Given the description of an element on the screen output the (x, y) to click on. 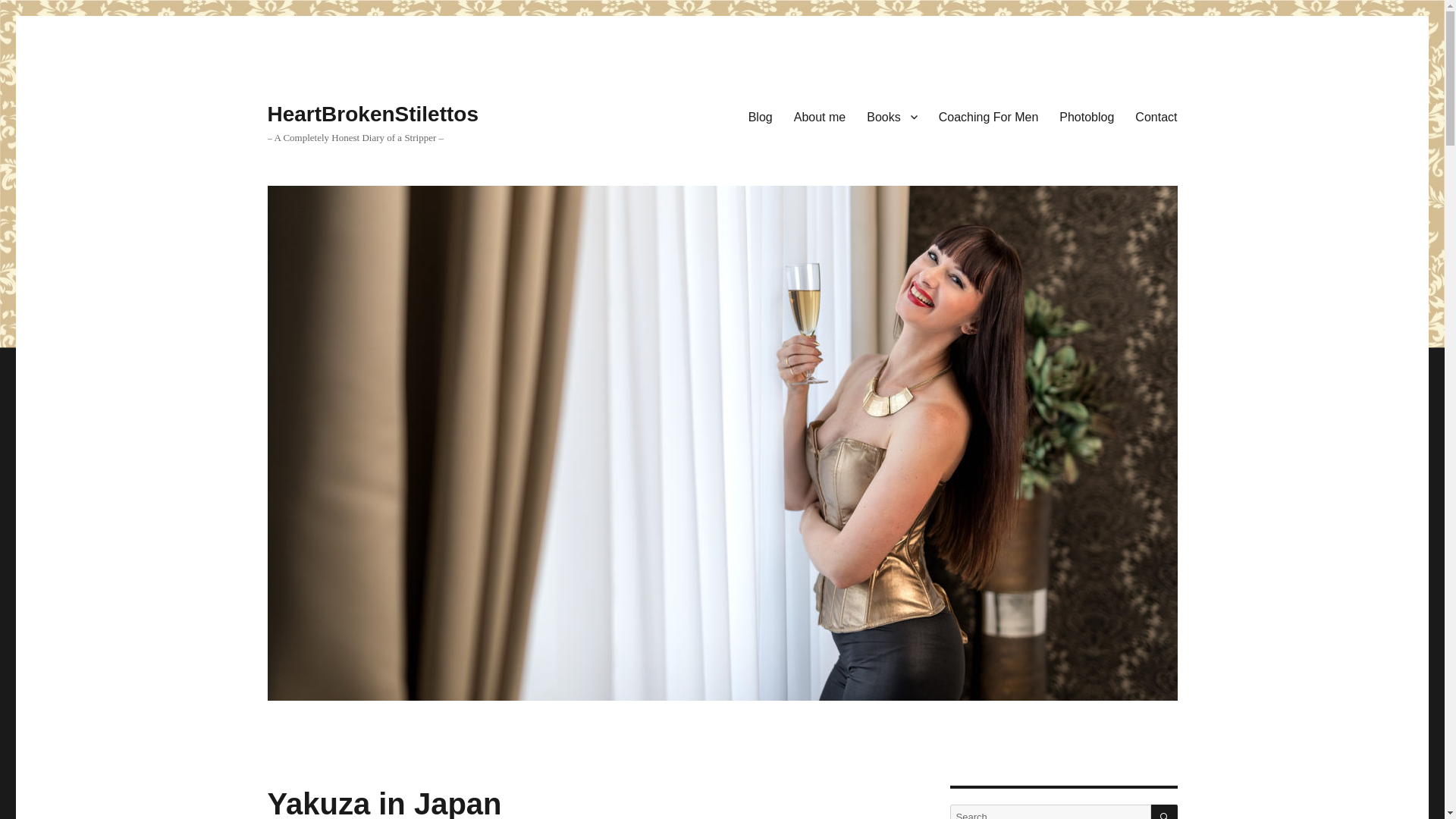
Coaching For Men (988, 116)
Blog (760, 116)
Photoblog (1086, 116)
HeartBrokenStilettos (372, 114)
About me (819, 116)
Contact (1156, 116)
Books (891, 116)
